Given the description of an element on the screen output the (x, y) to click on. 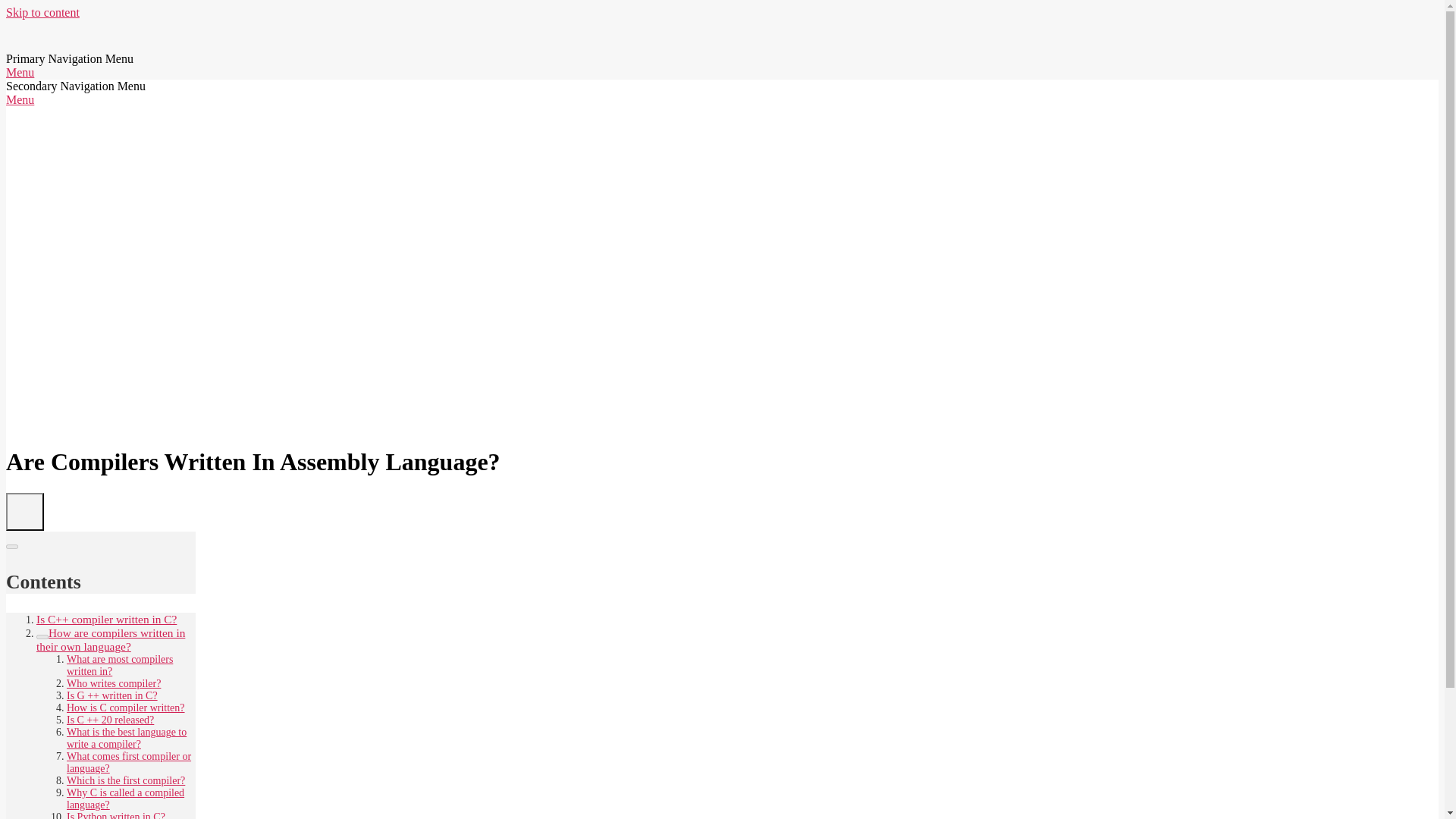
Why C is called a compiled language? (125, 798)
How is C compiler written? (125, 707)
Is Python written in C? (115, 815)
Menu (19, 99)
What is the best language to write a compiler? (126, 738)
What are most compilers written in? (119, 665)
Skip to content (42, 11)
Menu (19, 72)
Which is the first compiler? (125, 780)
How are compilers written in their own language? (110, 640)
Who writes compiler? (113, 683)
click To Maximize The Table Of Contents (24, 511)
What comes first compiler or language? (128, 762)
